Given the description of an element on the screen output the (x, y) to click on. 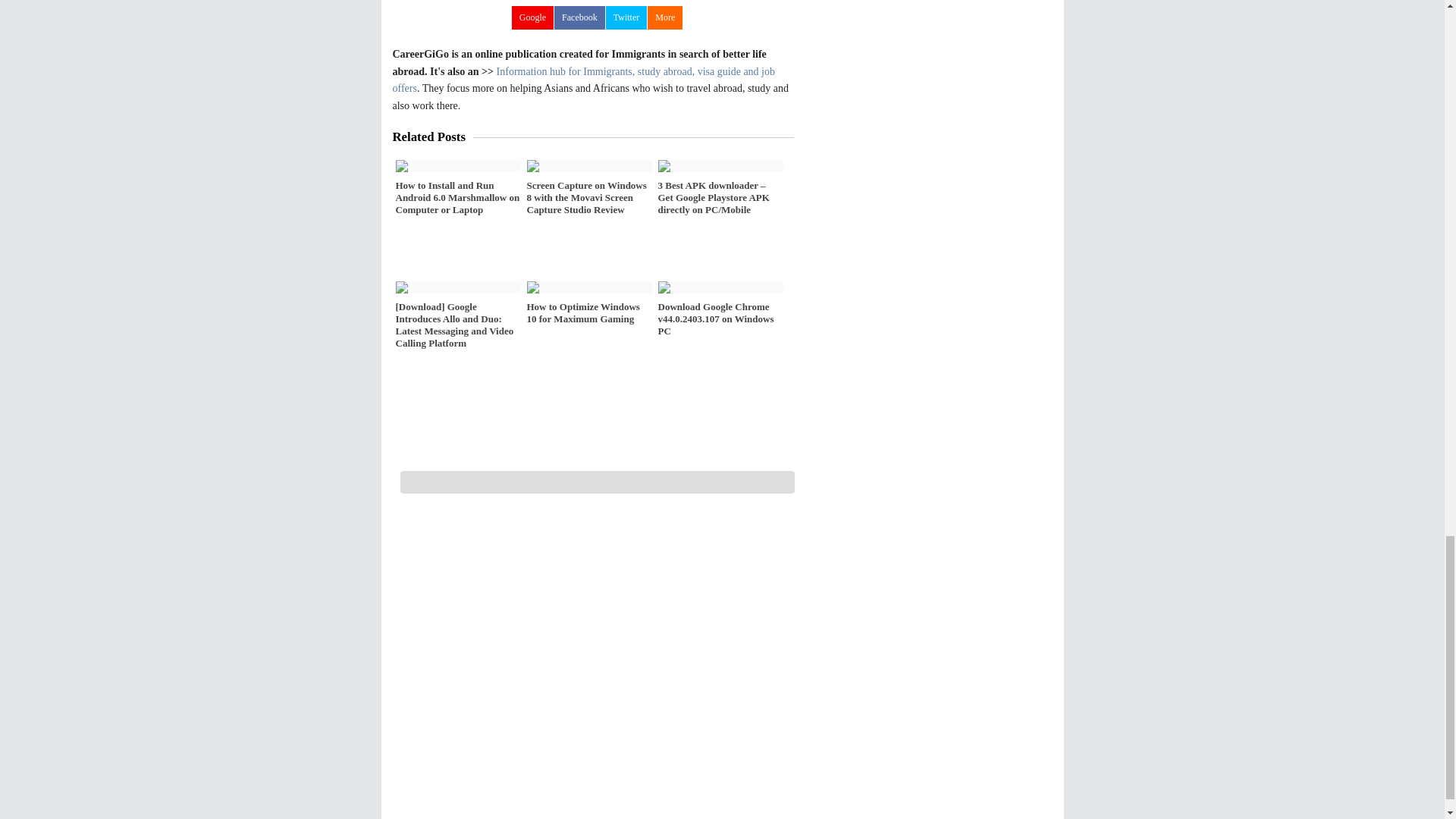
Share to Facebook (579, 17)
Twitter (625, 17)
Google (532, 17)
Facebook (579, 17)
Share to Twitter (625, 17)
